Given the description of an element on the screen output the (x, y) to click on. 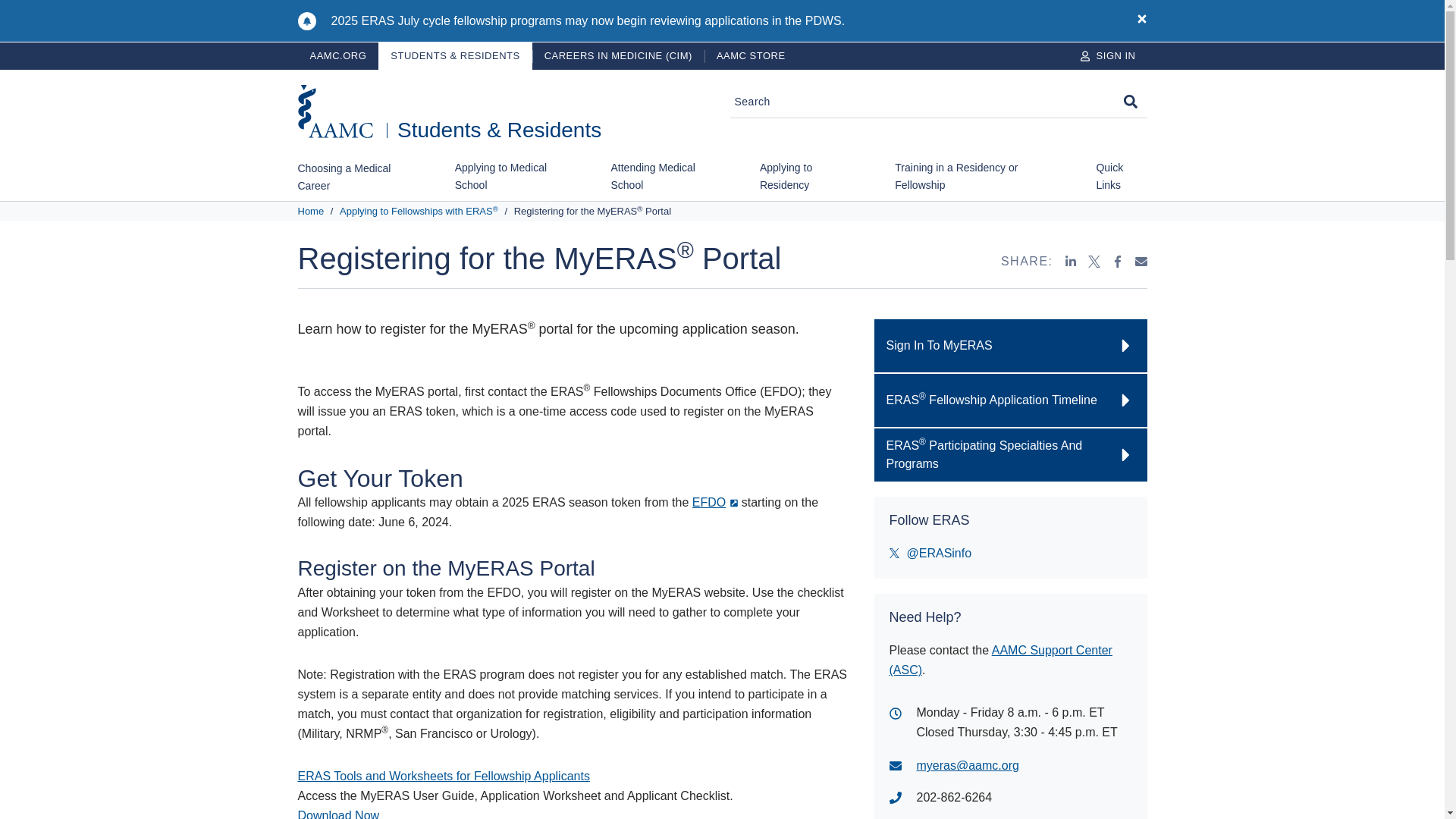
Email (1140, 261)
Choosing a Medical Career (356, 180)
GO (1130, 101)
Twitter (1093, 261)
AAMC STORE (750, 55)
AAMC.ORG (337, 55)
GO (1130, 101)
SIGN IN (1107, 55)
Facebook (1118, 261)
Linkedin (1070, 261)
Applying to Medical School (513, 179)
